Given the description of an element on the screen output the (x, y) to click on. 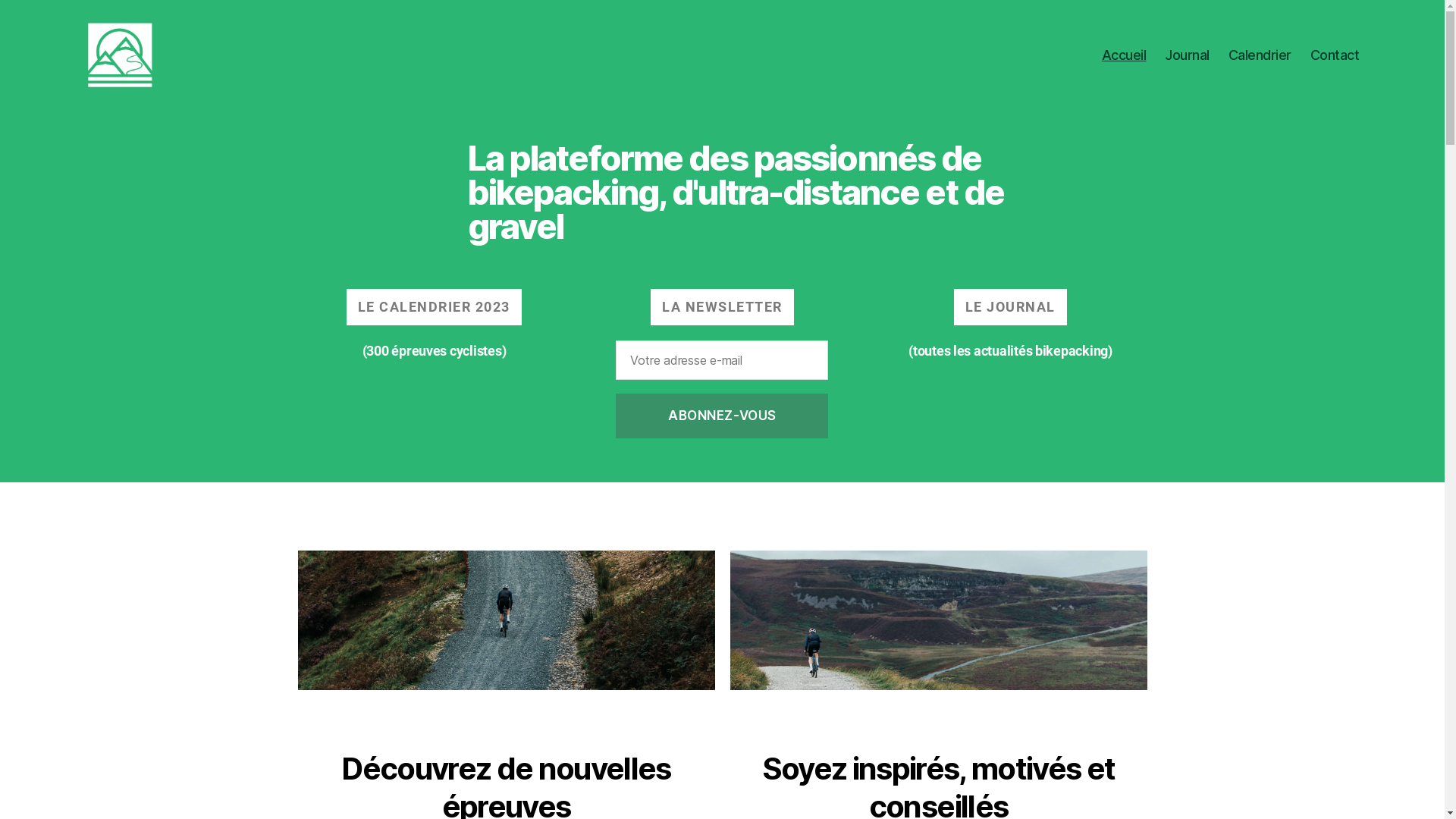
Contact Element type: text (1334, 55)
Journal Element type: text (1186, 55)
LE CALENDRIER 2023 Element type: text (433, 306)
Calendrier Element type: text (1259, 55)
Accueil Element type: text (1123, 55)
LA NEWSLETTER Element type: text (721, 306)
LE JOURNAL Element type: text (1009, 306)
Abonnez-vous Element type: text (721, 415)
